Given the description of an element on the screen output the (x, y) to click on. 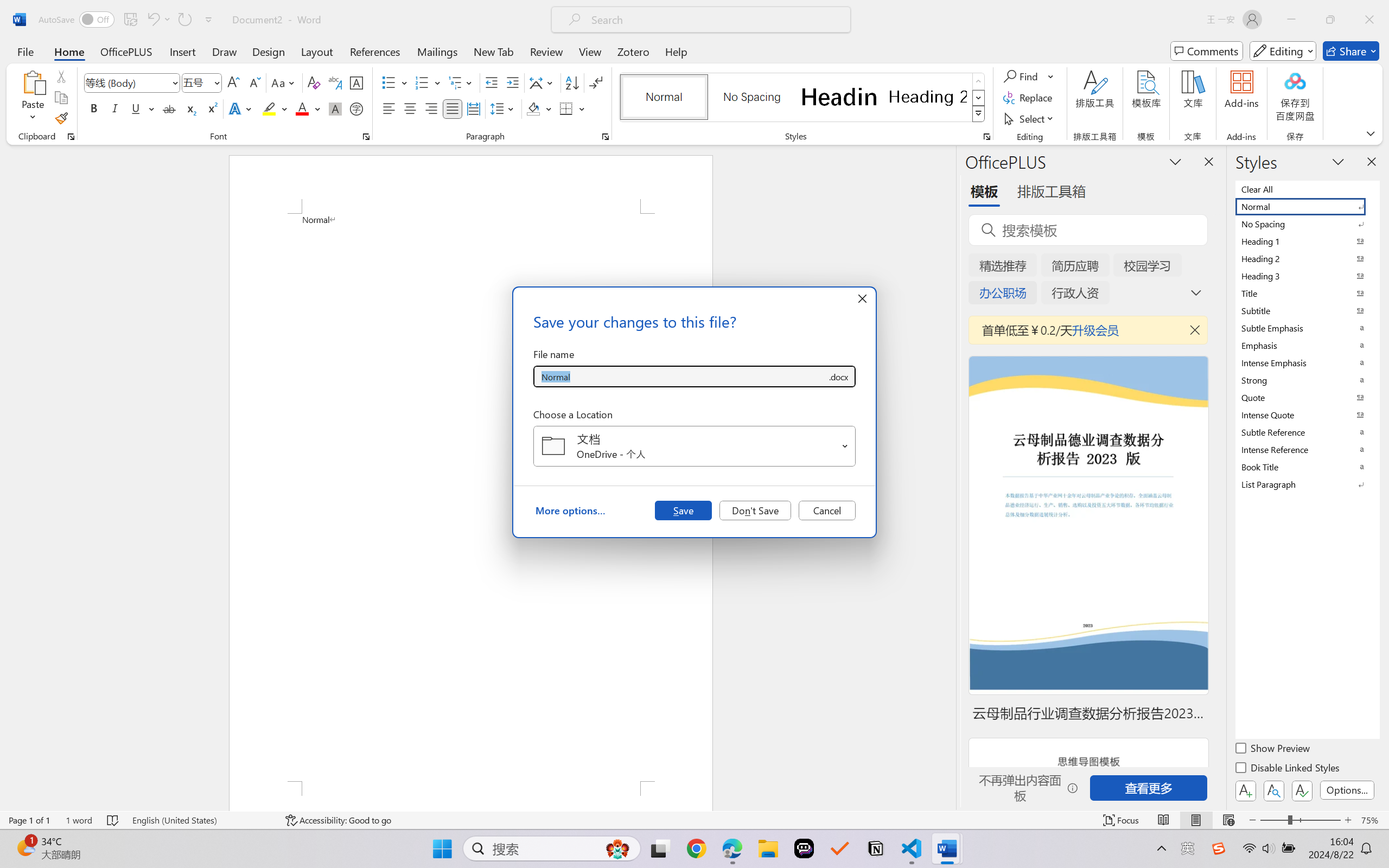
Subtle Emphasis (1306, 327)
Bullets (388, 82)
Align Right (431, 108)
Read Mode (1163, 819)
Strikethrough (169, 108)
Paragraph... (605, 136)
Underline (142, 108)
Justify (452, 108)
